Given the description of an element on the screen output the (x, y) to click on. 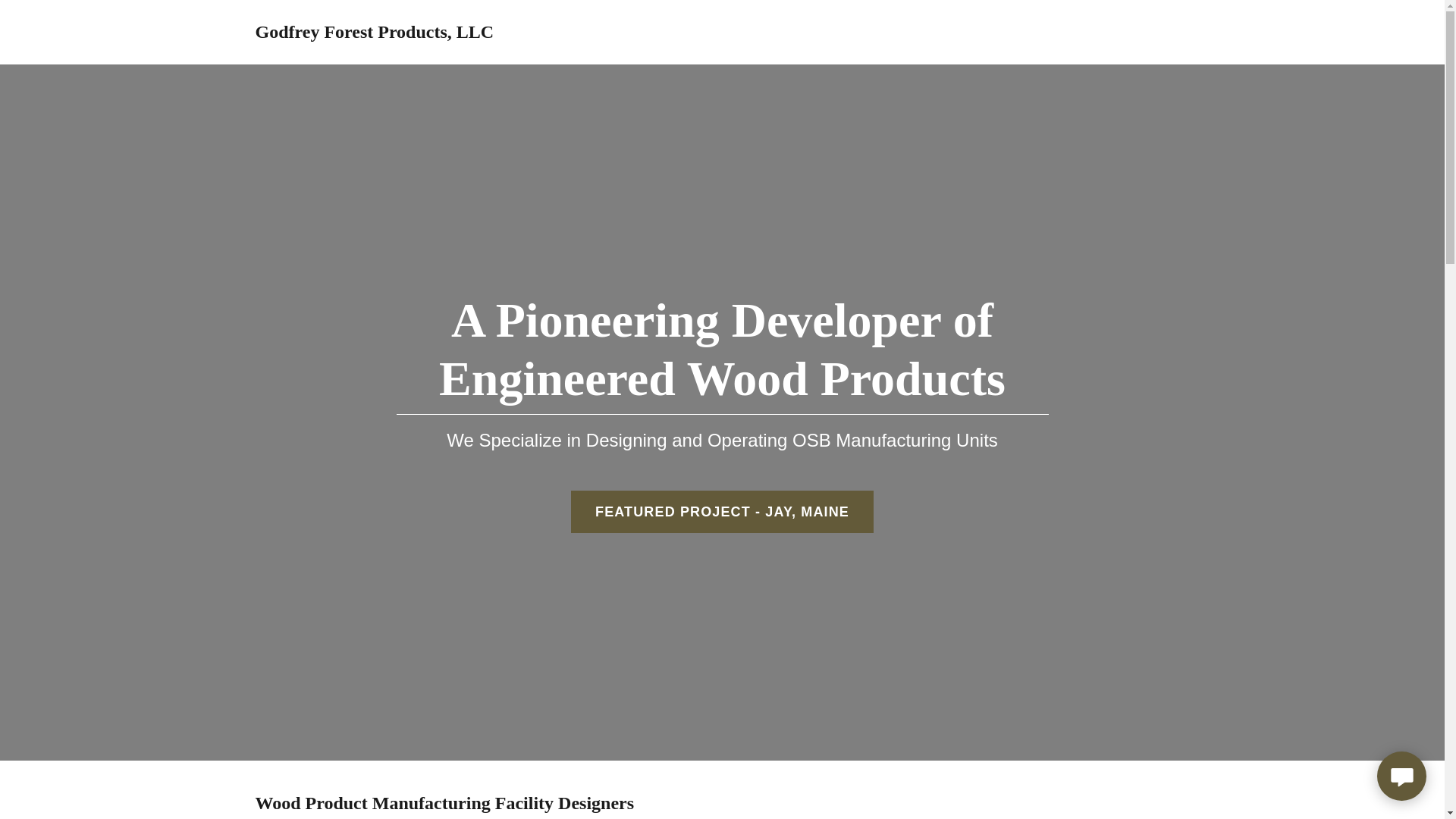
Godfrey Forest Products, LLC (373, 32)
FEATURED PROJECT - JAY, MAINE (721, 511)
Godfrey Forest Products, LLC (373, 32)
